Given the description of an element on the screen output the (x, y) to click on. 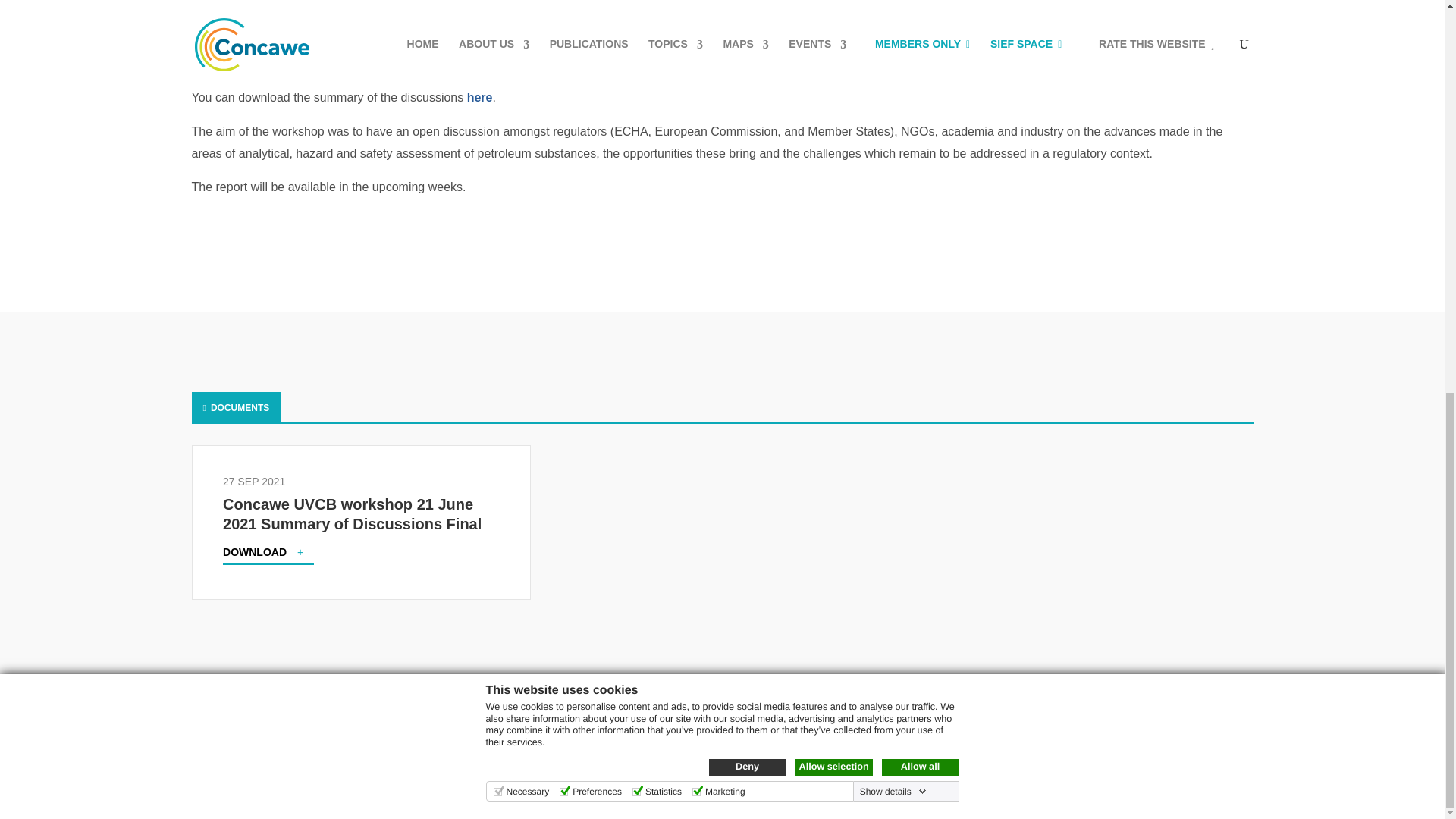
Show details (893, 38)
Deny (746, 13)
Allow all (919, 13)
Allow selection (833, 13)
